Given the description of an element on the screen output the (x, y) to click on. 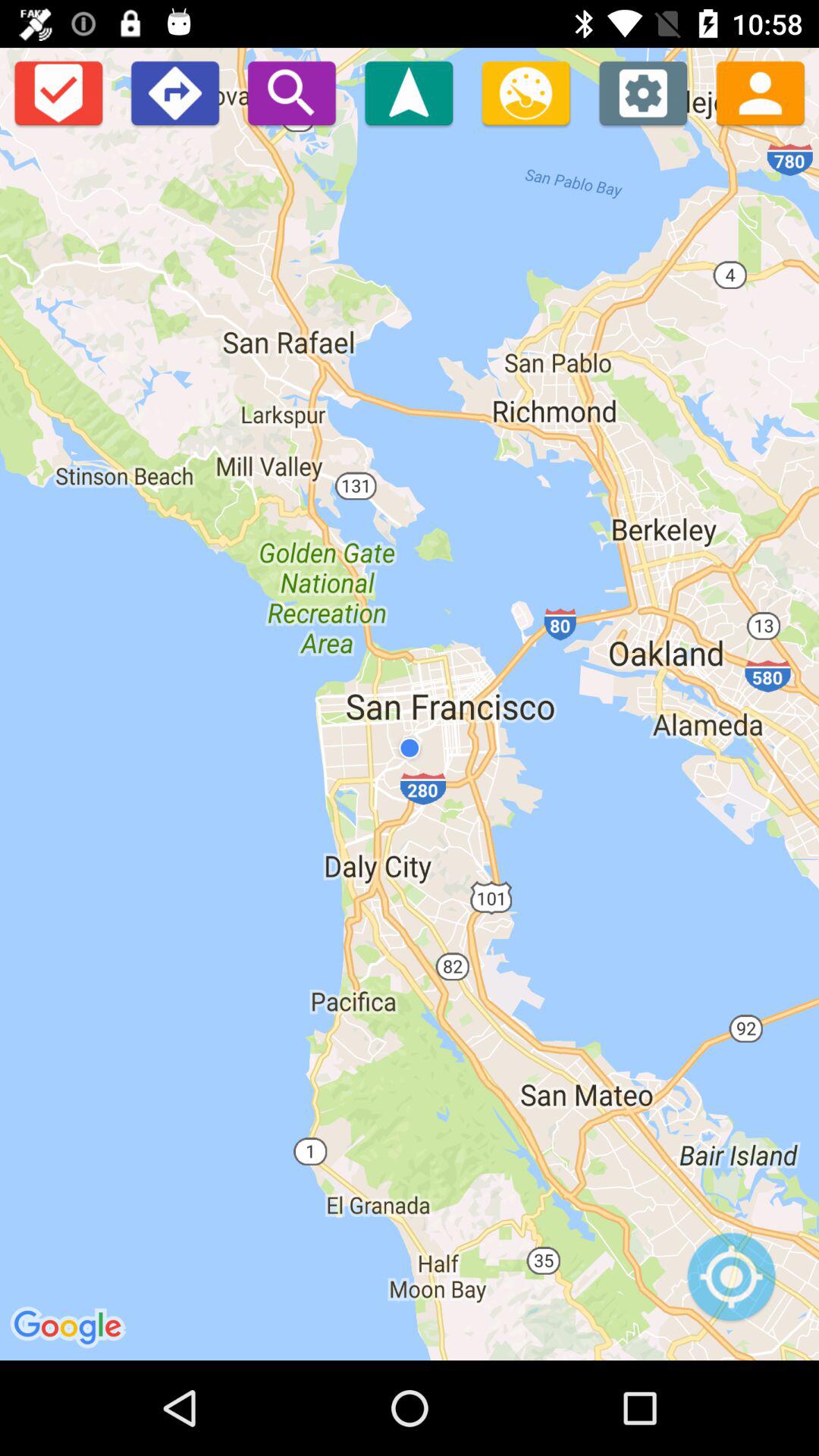
the configuration (642, 92)
